Given the description of an element on the screen output the (x, y) to click on. 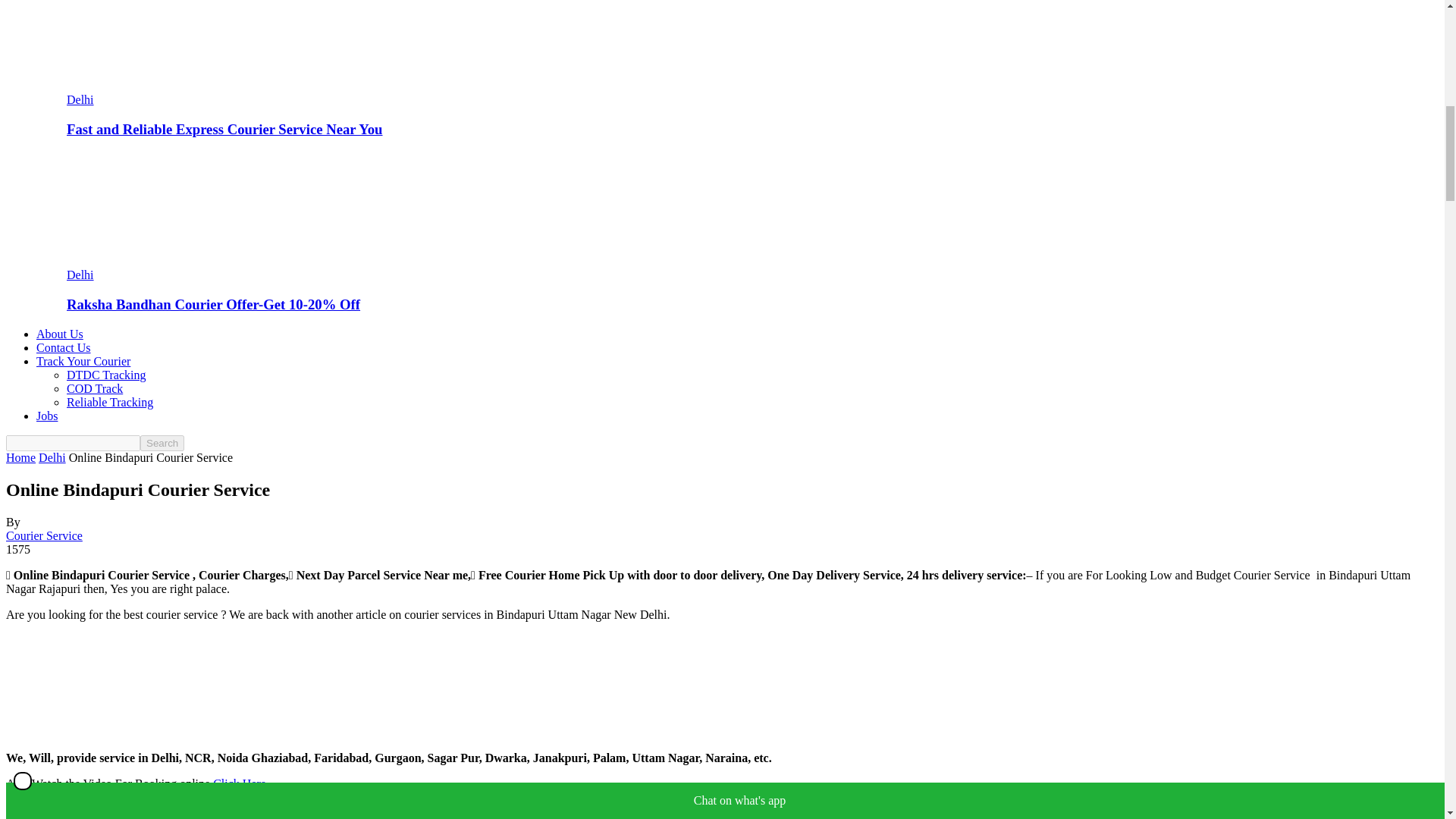
Fast and Reliable Express Courier Service Near You (148, 85)
Search (161, 442)
Fast and Reliable Express Courier Service Near You (223, 129)
